Given the description of an element on the screen output the (x, y) to click on. 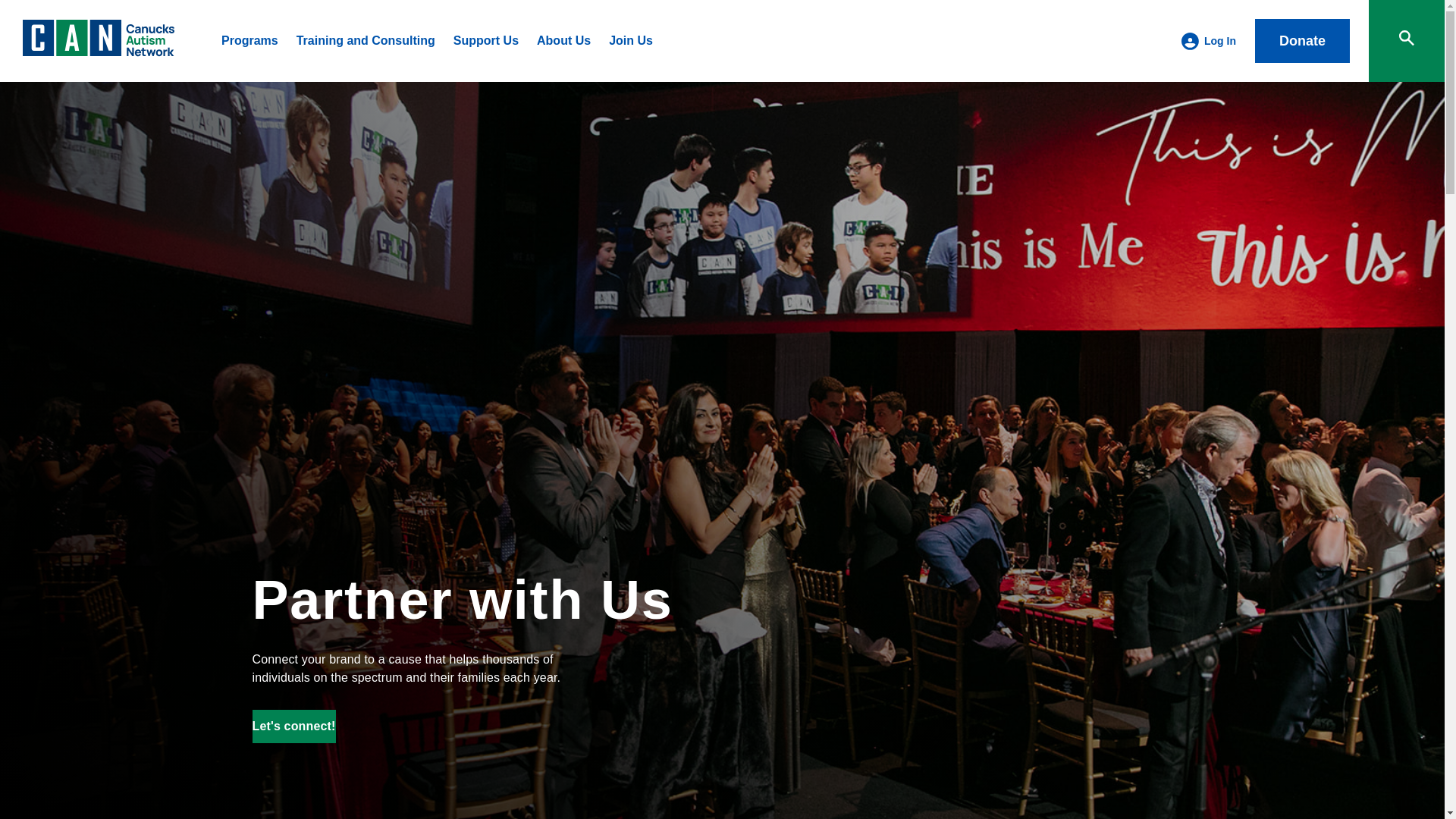
Canucks Autism Network (98, 51)
Training and Consulting (365, 40)
Support Us (485, 40)
Log In (1220, 41)
Programs (249, 40)
Donate (1302, 40)
